Given the description of an element on the screen output the (x, y) to click on. 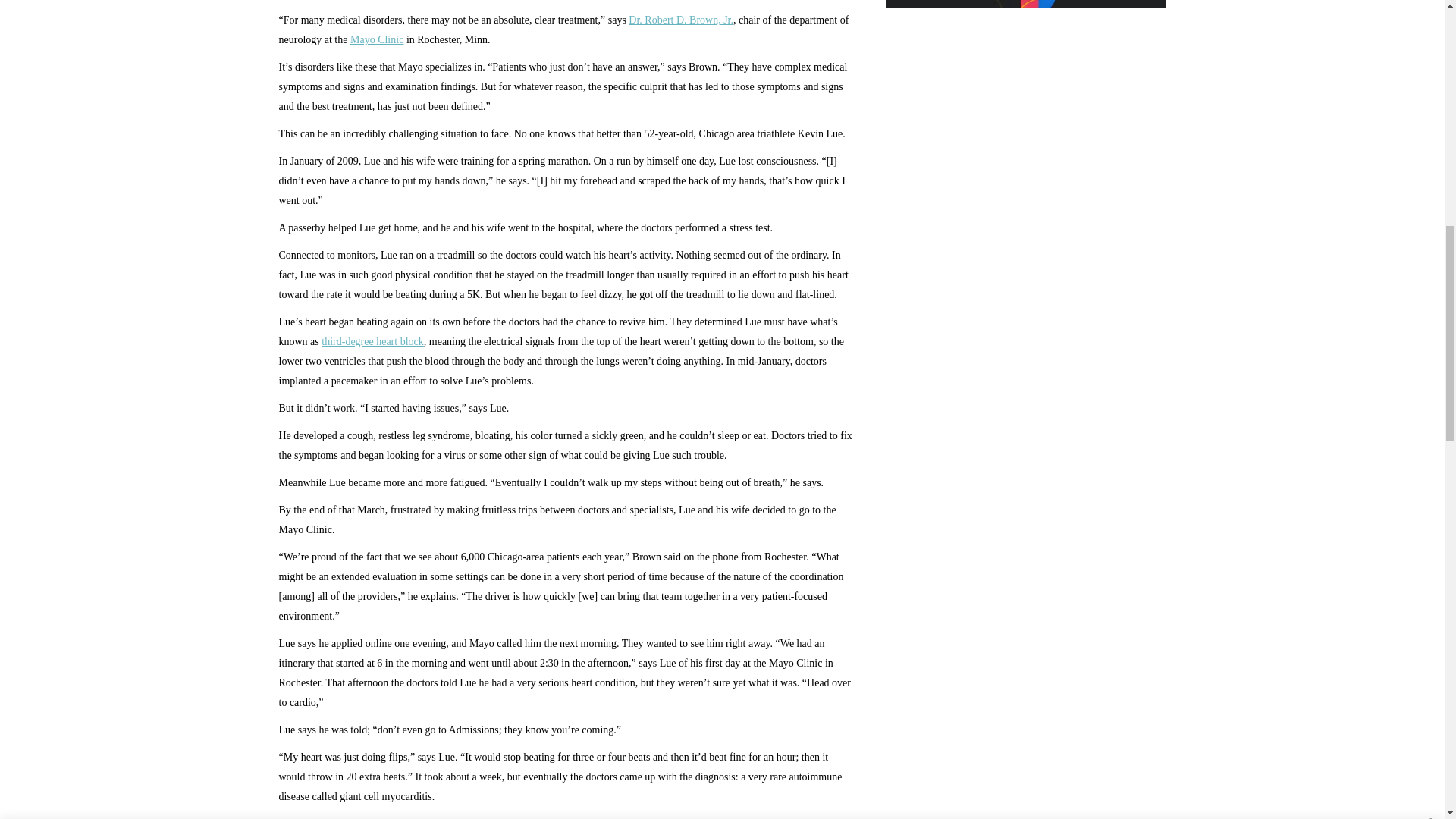
Third degree block (372, 341)
Brown (680, 19)
